Given the description of an element on the screen output the (x, y) to click on. 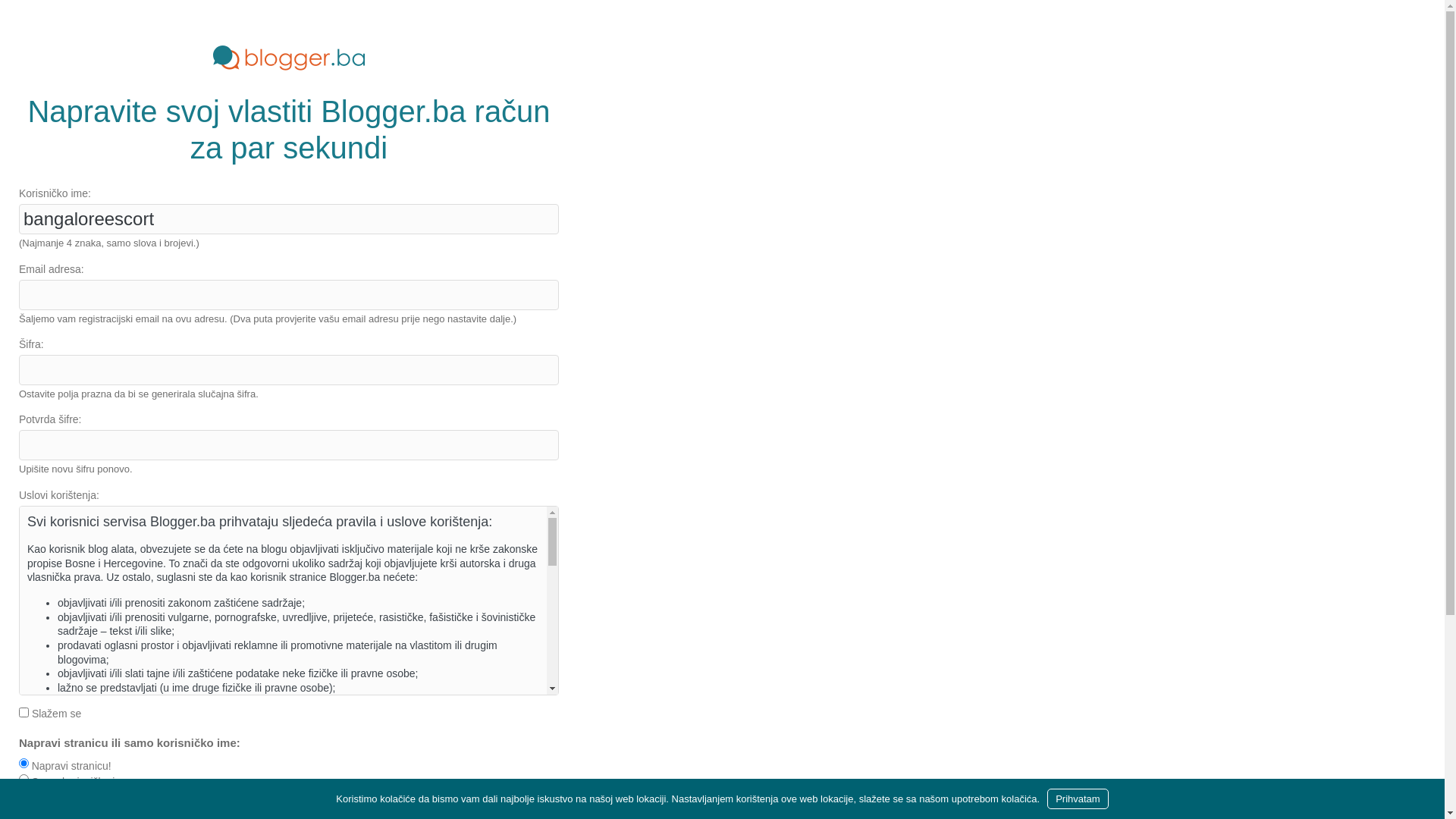
Prihvatam Element type: text (1077, 798)
